Given the description of an element on the screen output the (x, y) to click on. 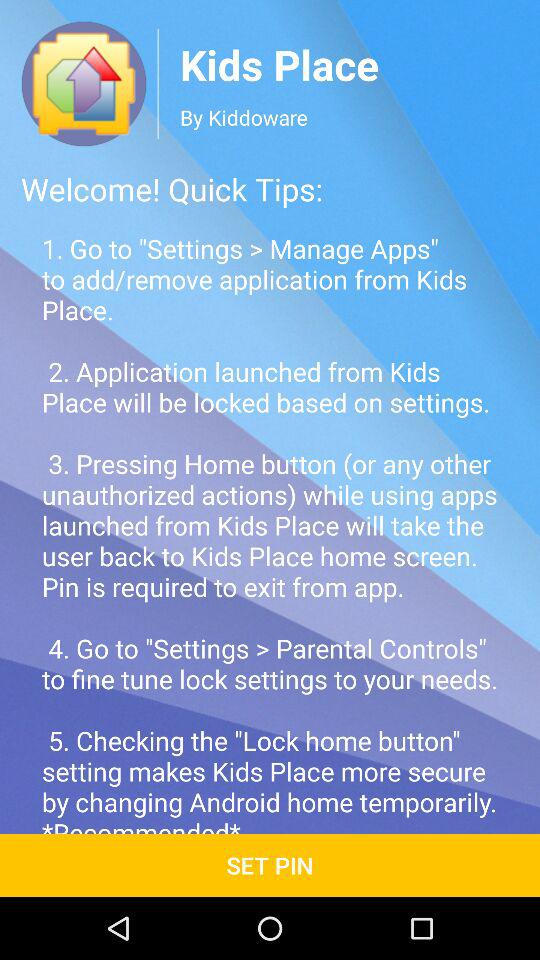
choose the set pin item (270, 864)
